Given the description of an element on the screen output the (x, y) to click on. 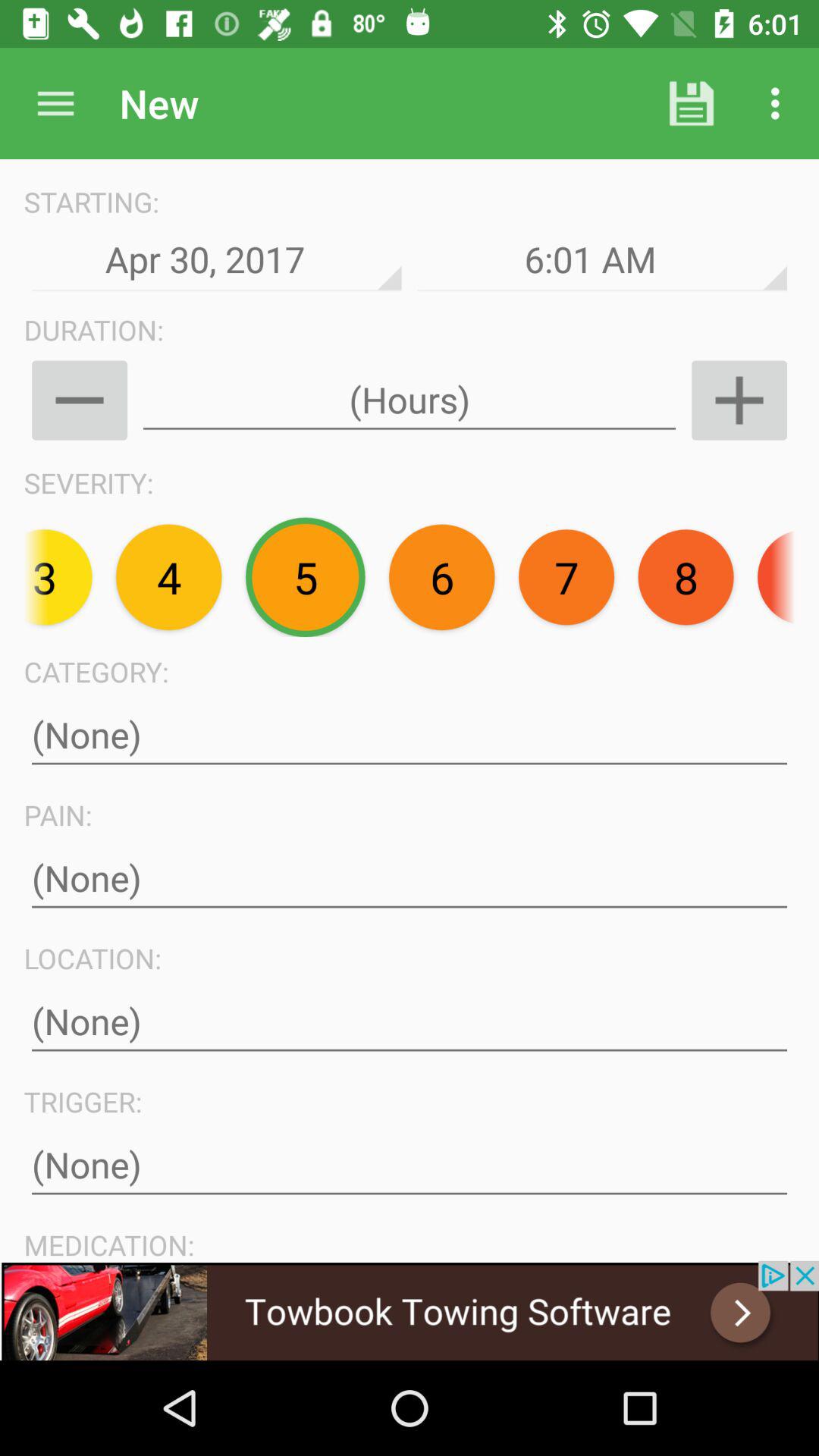
enter trigger value (409, 1165)
